Given the description of an element on the screen output the (x, y) to click on. 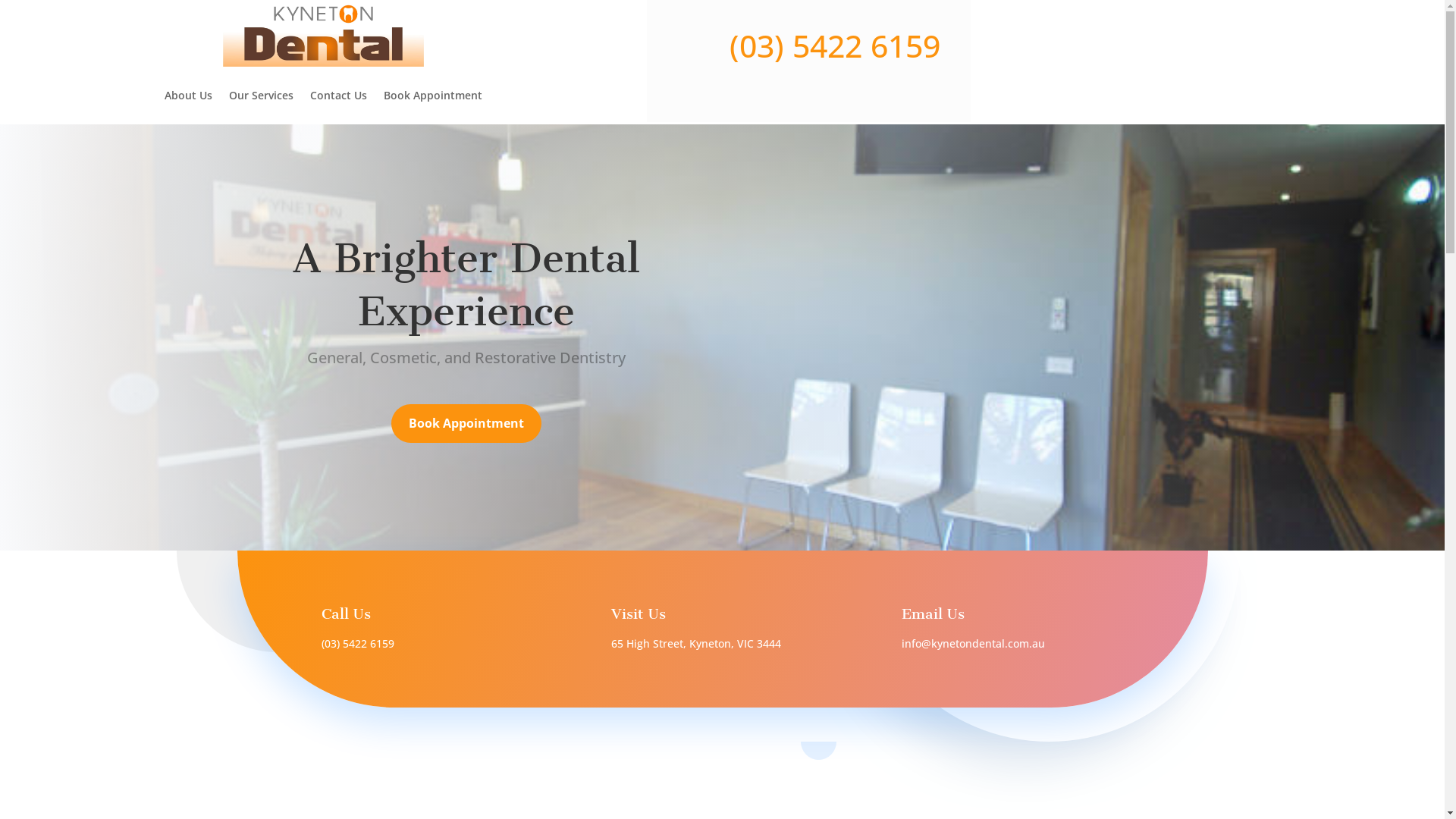
Book Appointment Element type: text (432, 95)
Our Services Element type: text (261, 95)
Contact Us Element type: text (338, 95)
About Us Element type: text (188, 95)
Book Appointment Element type: text (466, 423)
